Given the description of an element on the screen output the (x, y) to click on. 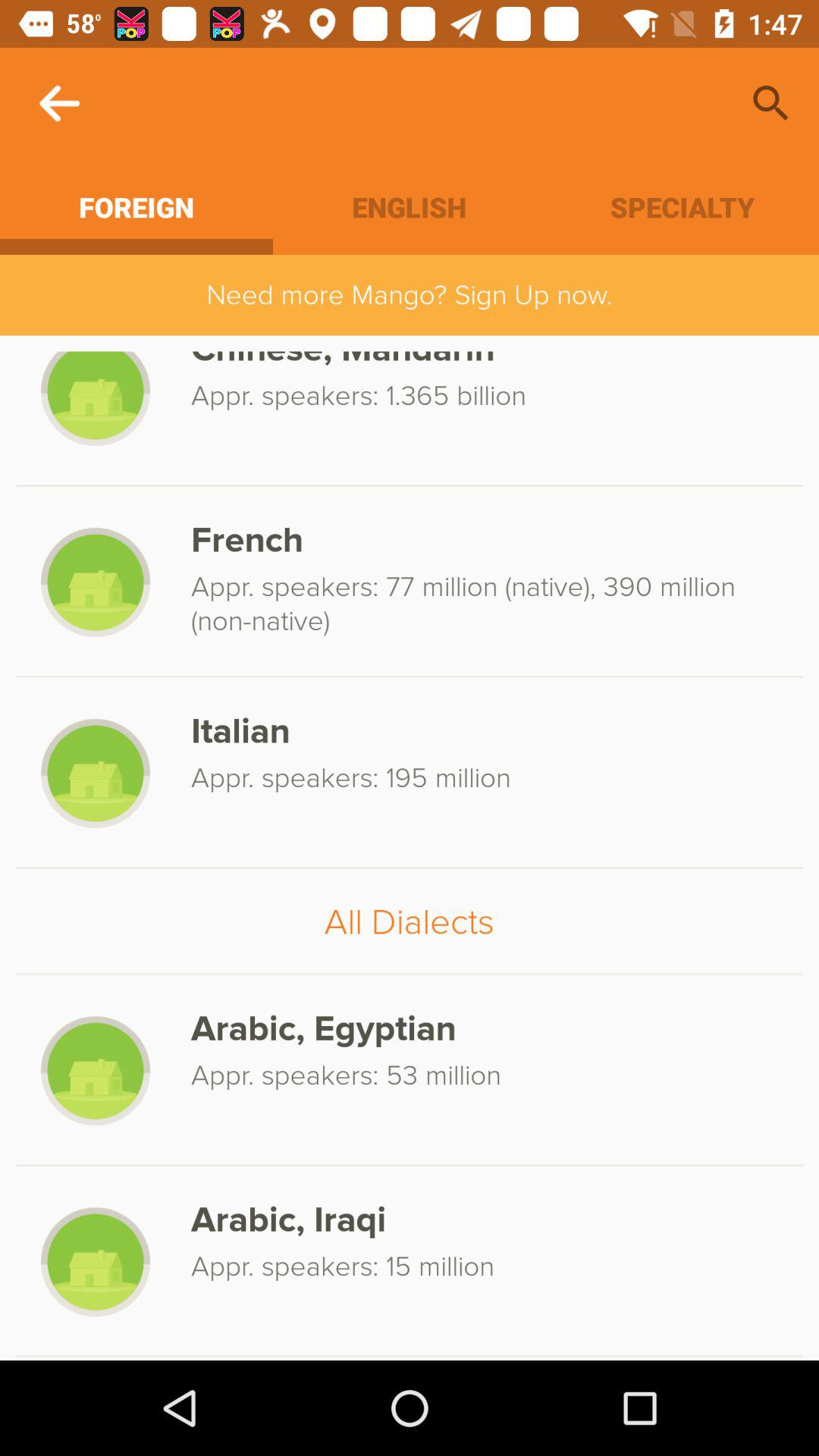
tap item below foreign icon (409, 294)
